Given the description of an element on the screen output the (x, y) to click on. 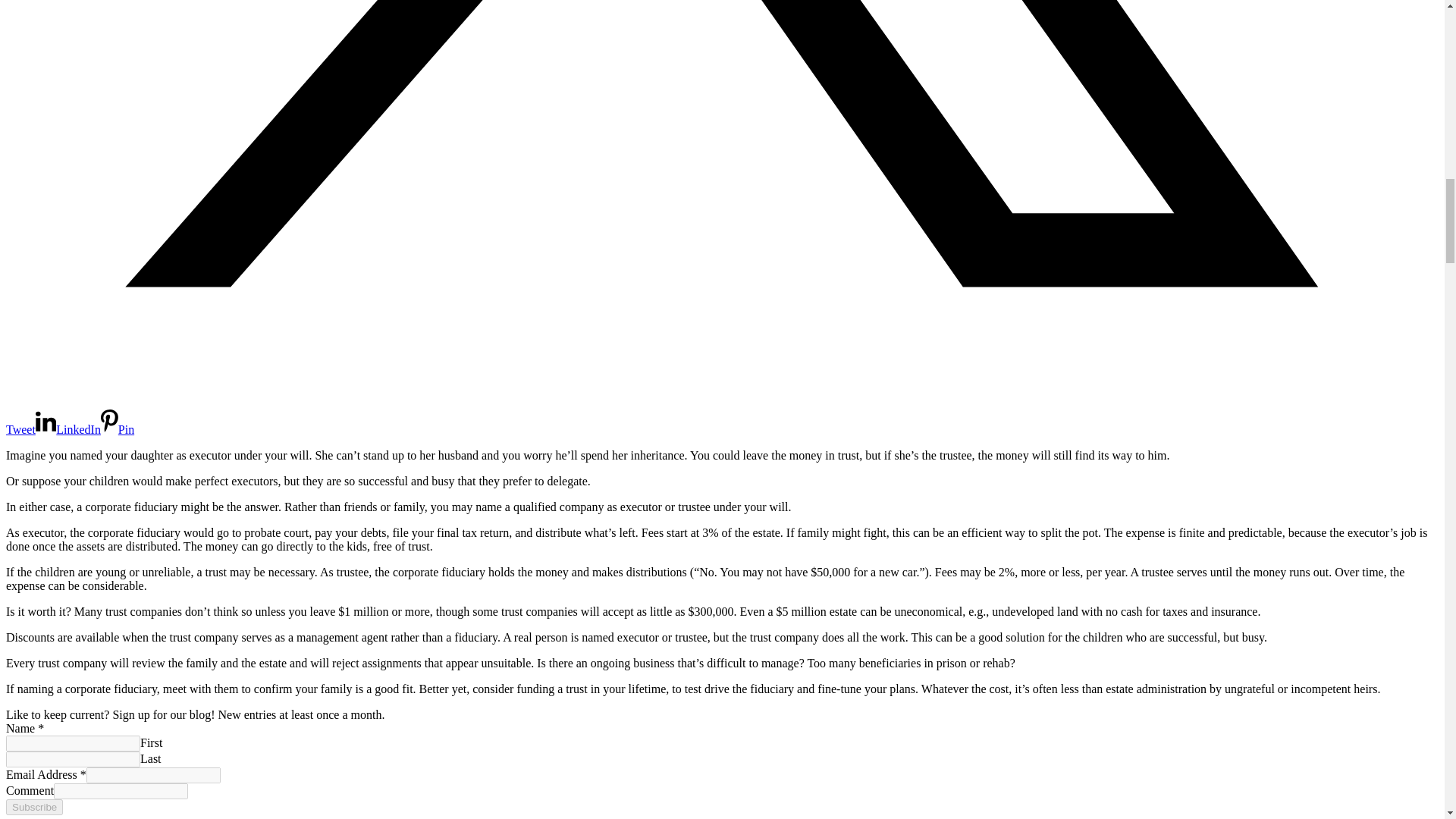
Subscribe (33, 806)
Share on LinkedIn (67, 429)
Share on Pinterest (116, 429)
LinkedIn (67, 429)
Pin (116, 429)
